Given the description of an element on the screen output the (x, y) to click on. 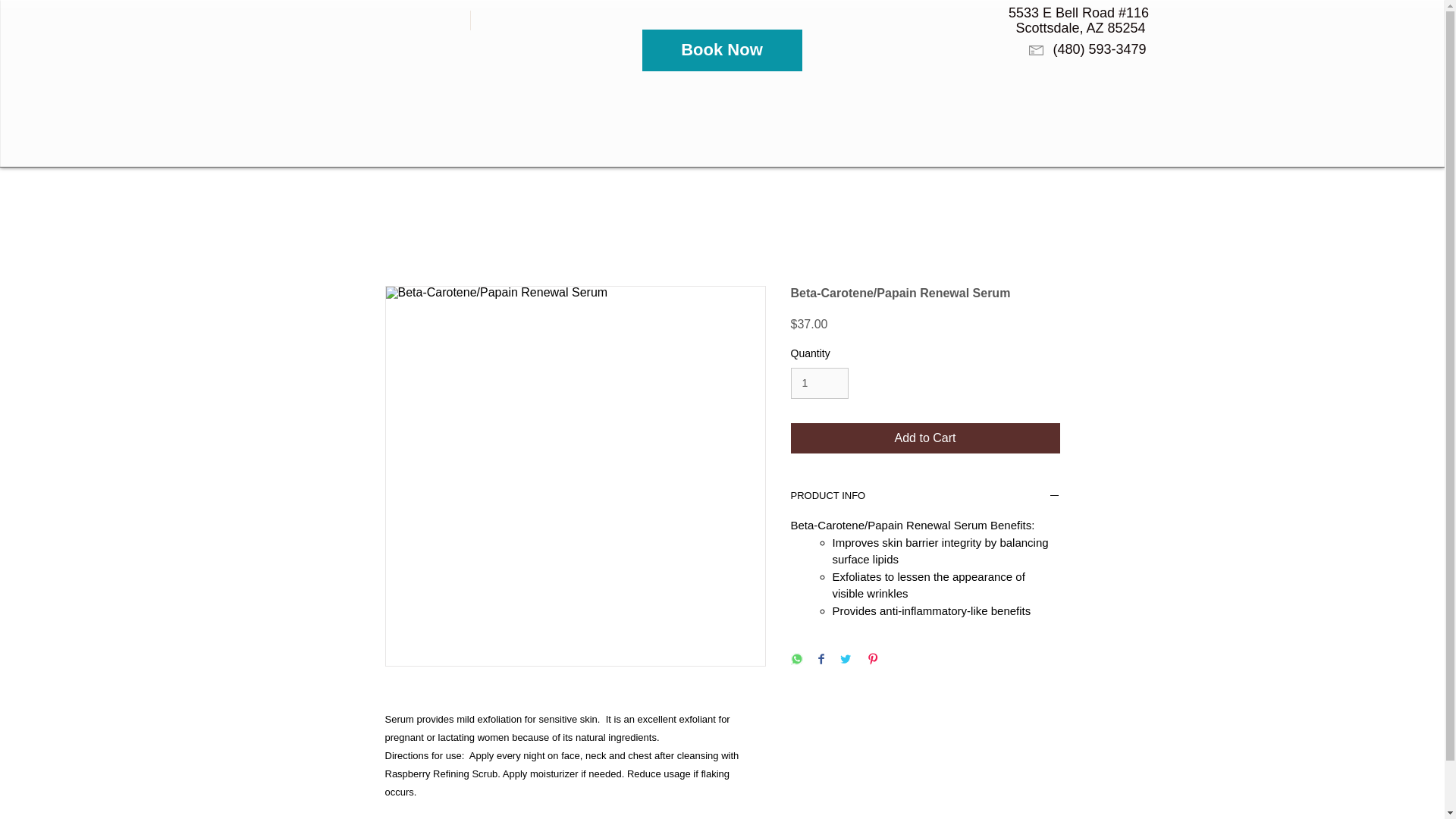
1 (818, 382)
Add to Cart (924, 438)
Book Now (722, 50)
PRODUCT INFO (924, 497)
